Given the description of an element on the screen output the (x, y) to click on. 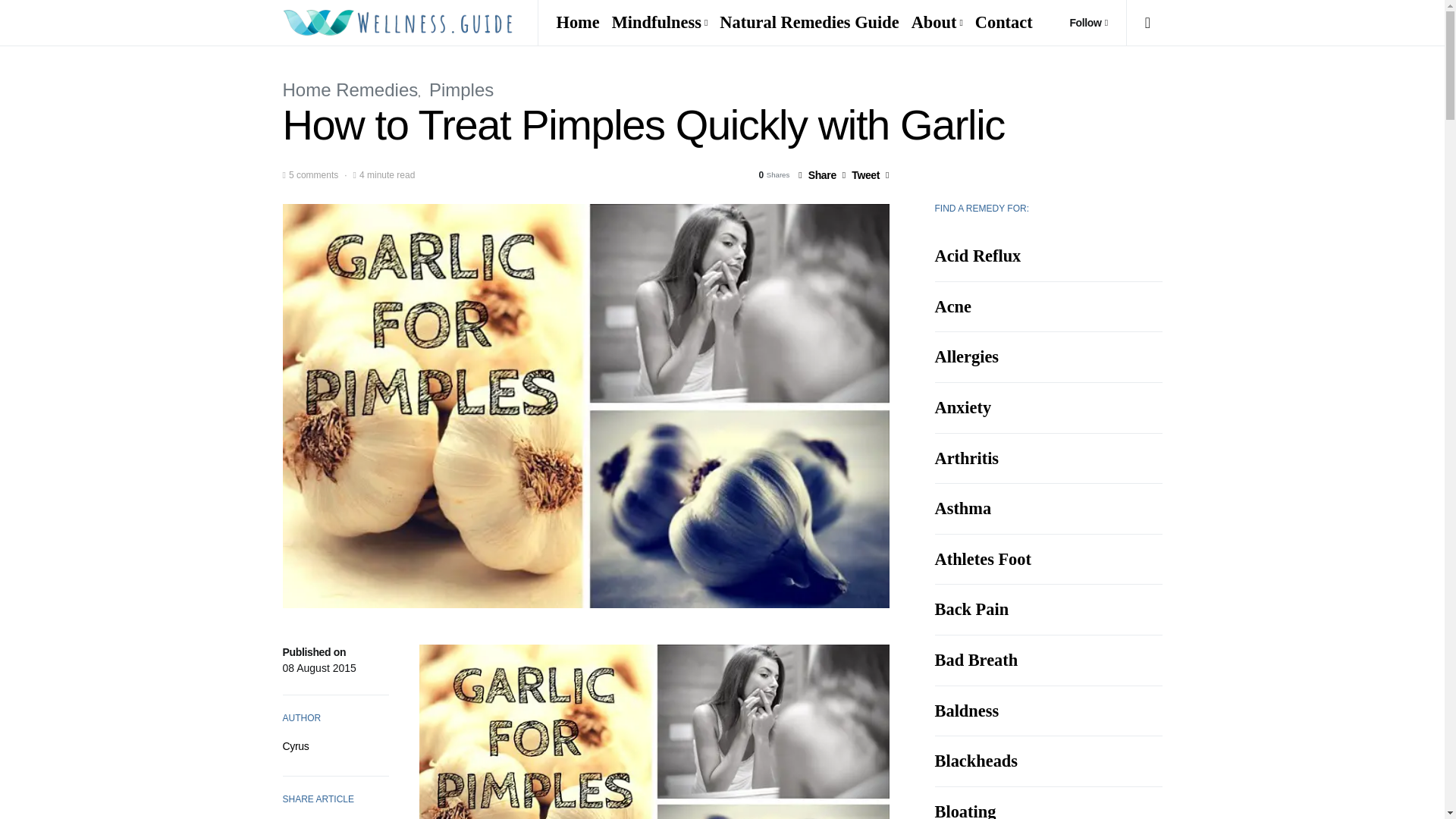
About (937, 22)
Tweet (861, 175)
Share (817, 175)
5 comments (312, 174)
Mindfulness (659, 22)
Home (580, 22)
Natural Remedies Guide (808, 22)
Contact (1000, 22)
Home Remedies (349, 89)
Pimples (461, 89)
